Given the description of an element on the screen output the (x, y) to click on. 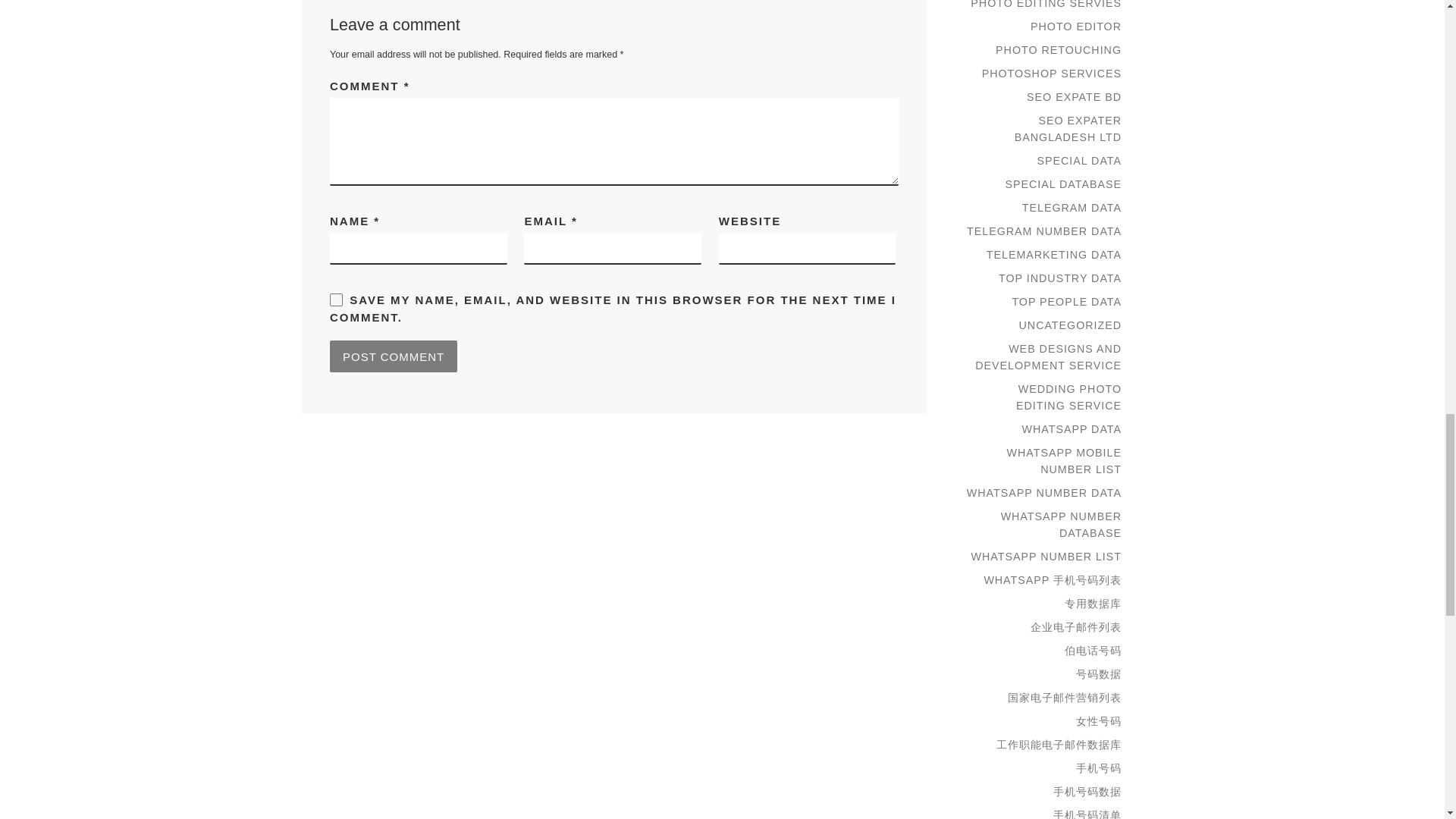
Post Comment (393, 356)
yes (336, 299)
